Given the description of an element on the screen output the (x, y) to click on. 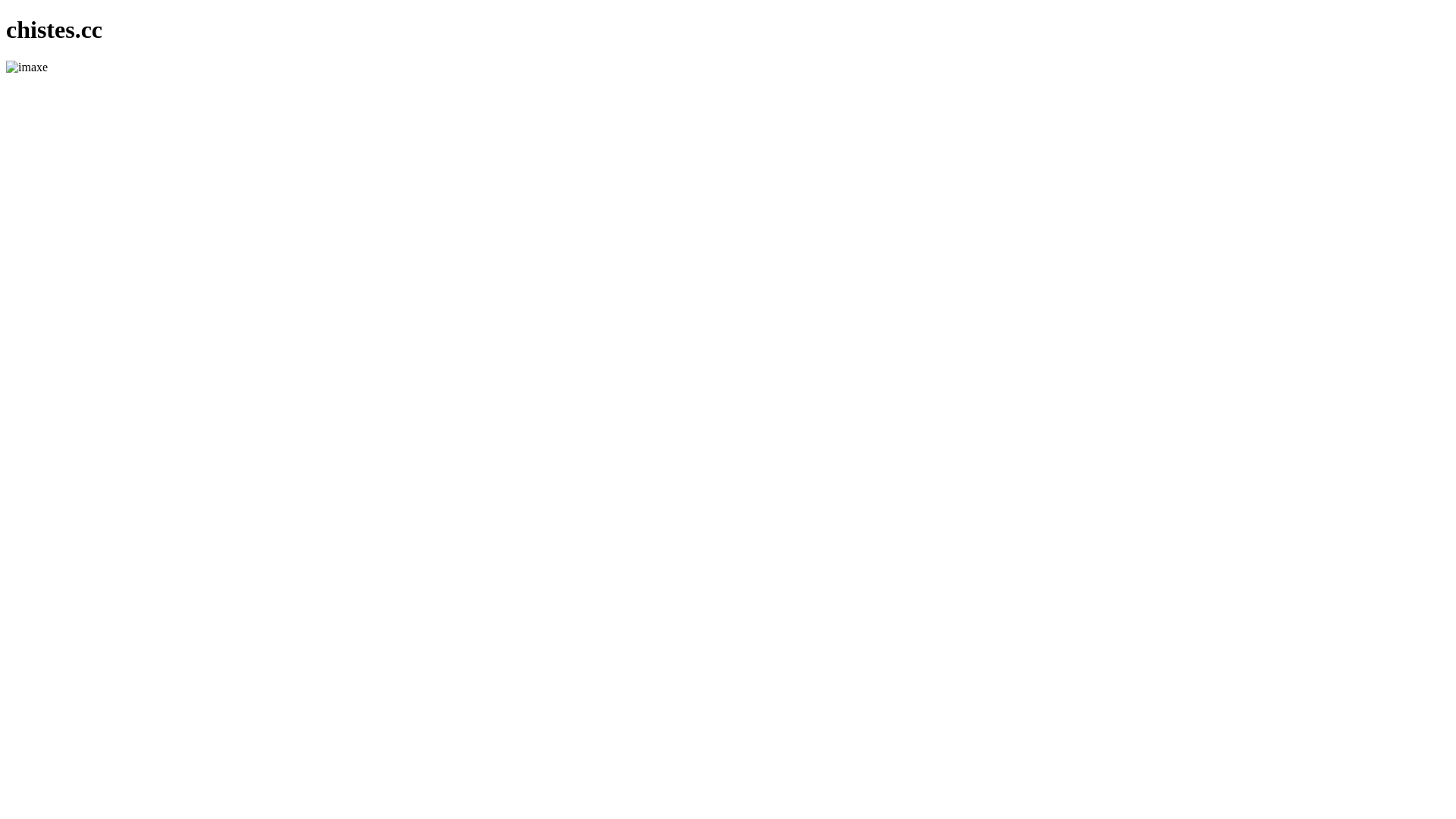
imaxe Element type: hover (26, 67)
